Given the description of an element on the screen output the (x, y) to click on. 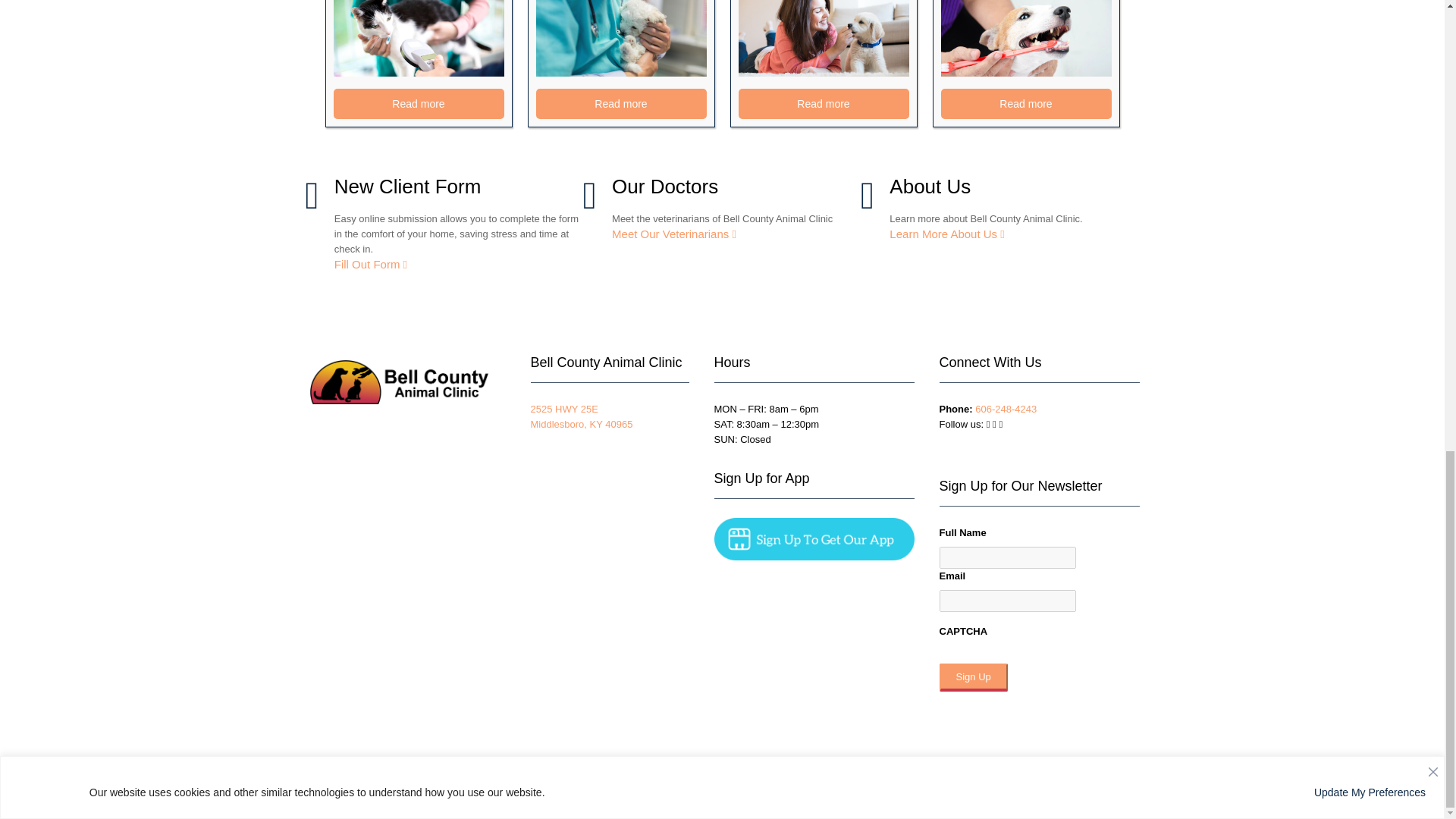
Sign Up (973, 677)
Emergency Services (620, 38)
Dental Care (1025, 38)
Microchipping (418, 38)
Nutritional Counseling (823, 38)
